Given the description of an element on the screen output the (x, y) to click on. 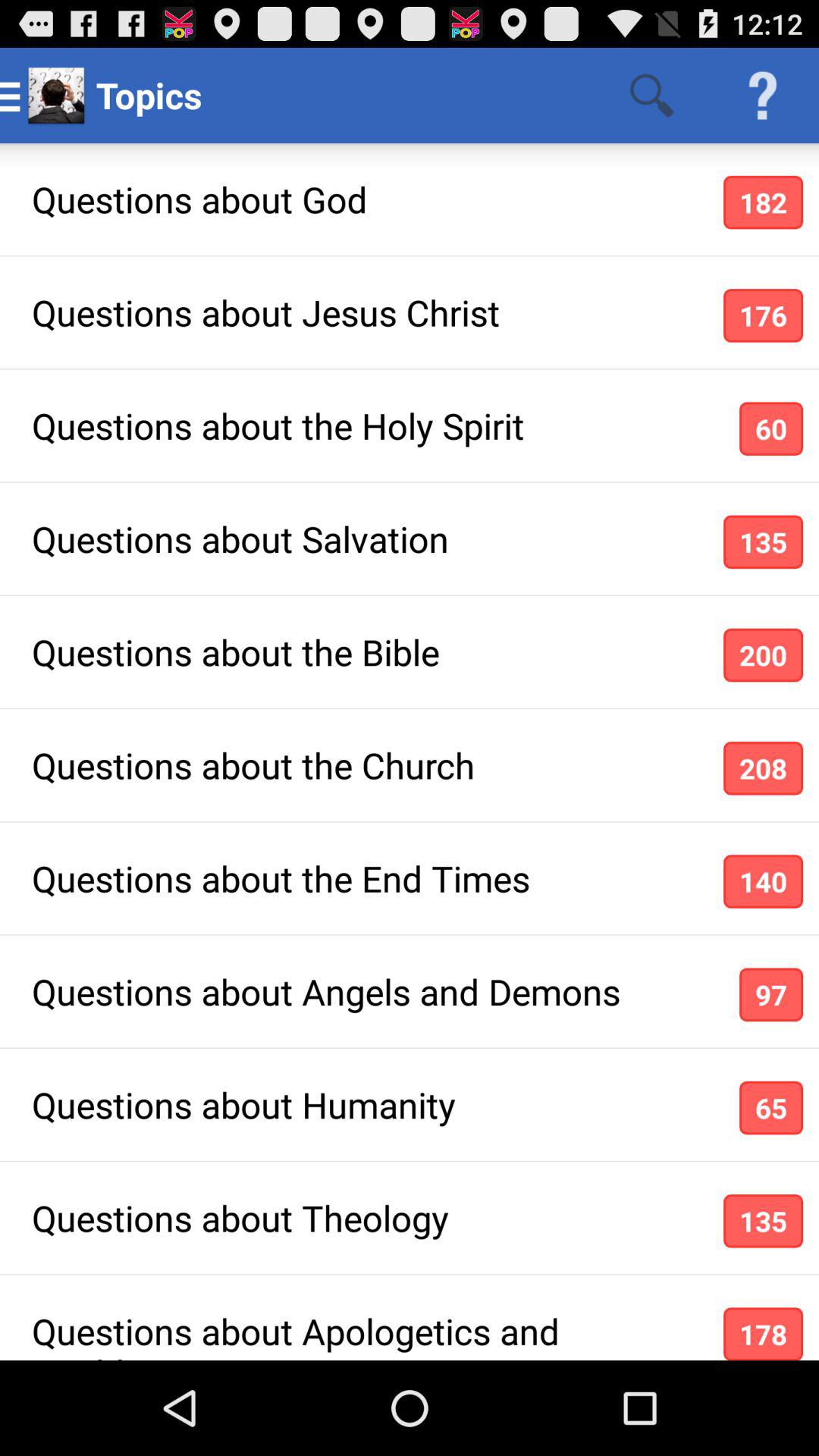
turn off 140 (763, 881)
